Given the description of an element on the screen output the (x, y) to click on. 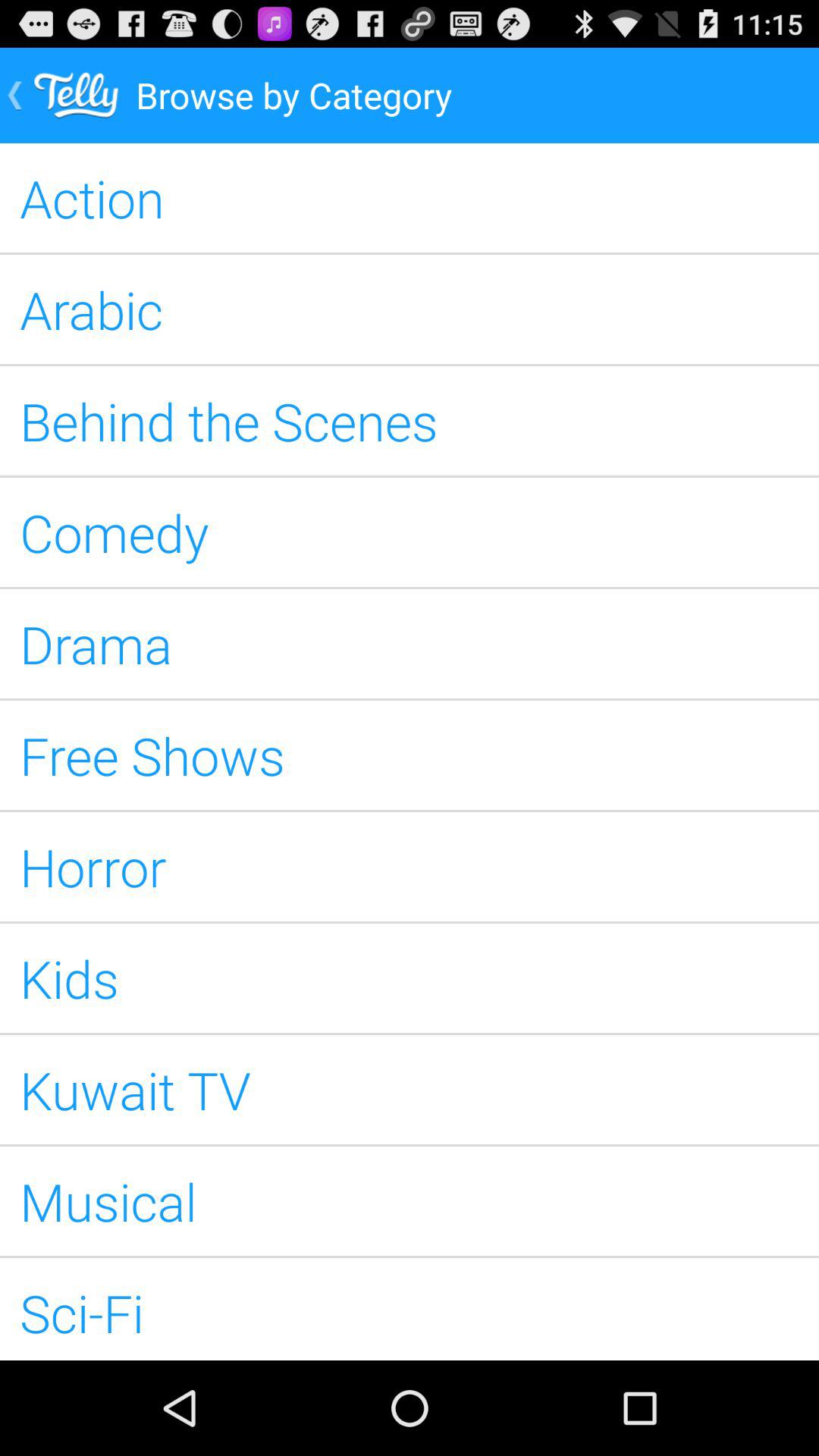
jump to the horror app (409, 866)
